Given the description of an element on the screen output the (x, y) to click on. 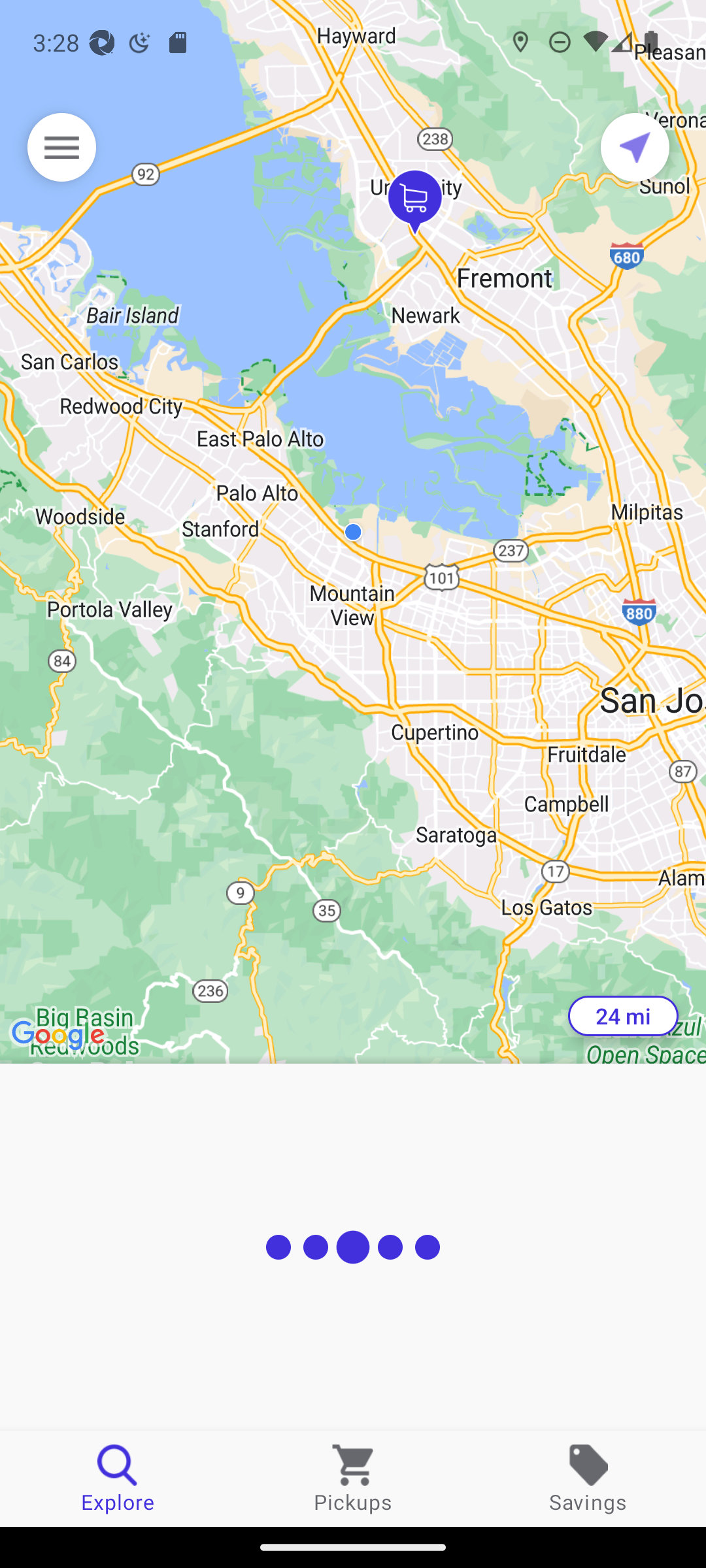
Menu (61, 146)
Current location (634, 146)
24 mi (623, 1015)
Pickups (352, 1478)
Savings (588, 1478)
